Given the description of an element on the screen output the (x, y) to click on. 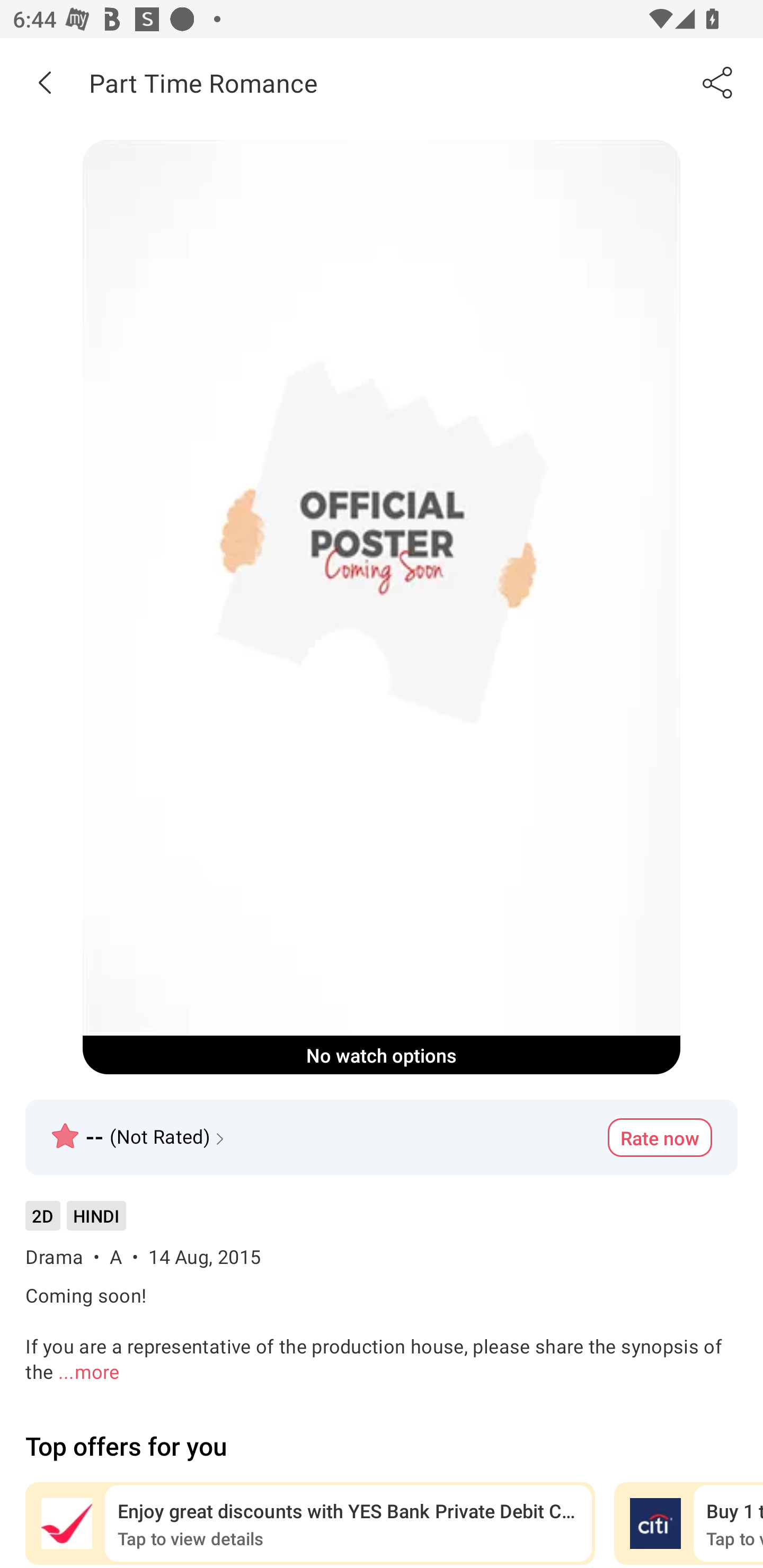
Back (44, 82)
Share (718, 82)
Movie Banner No watch options (381, 606)
-- (Not Rated) (140, 1128)
Rate now (659, 1137)
2D HINDI (75, 1222)
